Given the description of an element on the screen output the (x, y) to click on. 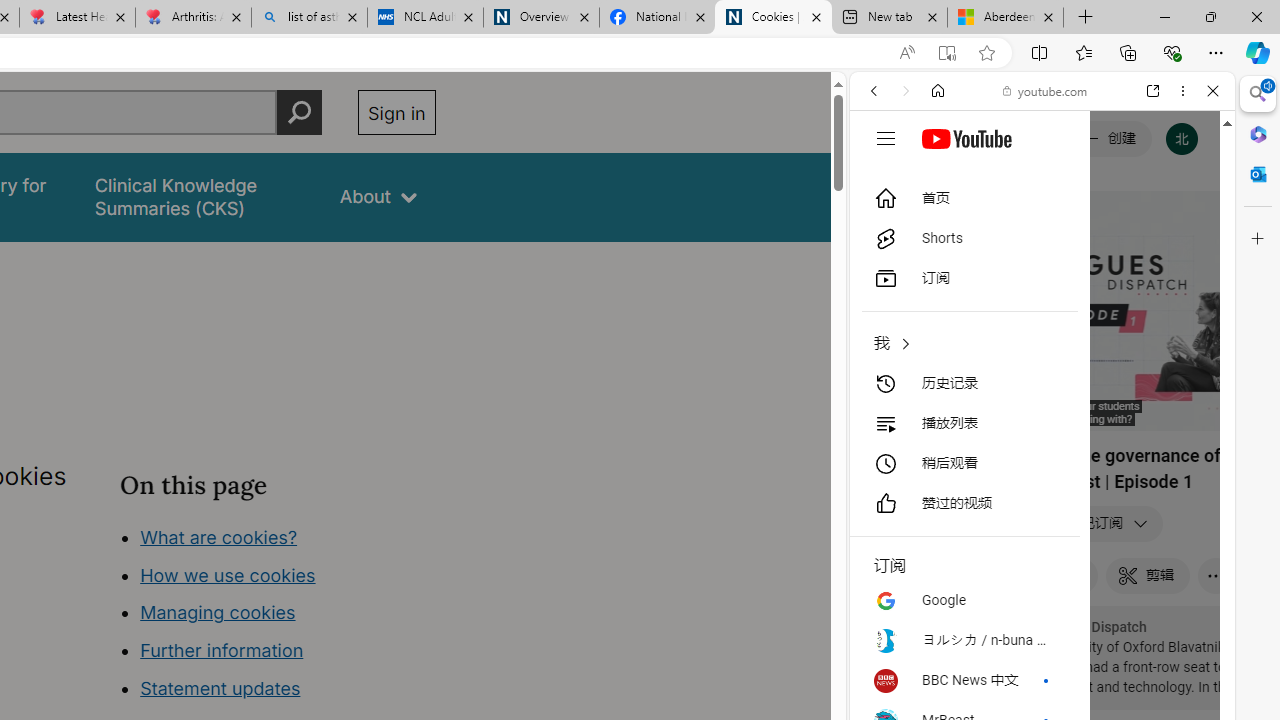
Managing cookies (217, 612)
Dialogues Dispatch (1085, 627)
Web scope (882, 180)
Music (1042, 543)
Class: b_serphb (1190, 229)
Preferences (1189, 228)
